Given the description of an element on the screen output the (x, y) to click on. 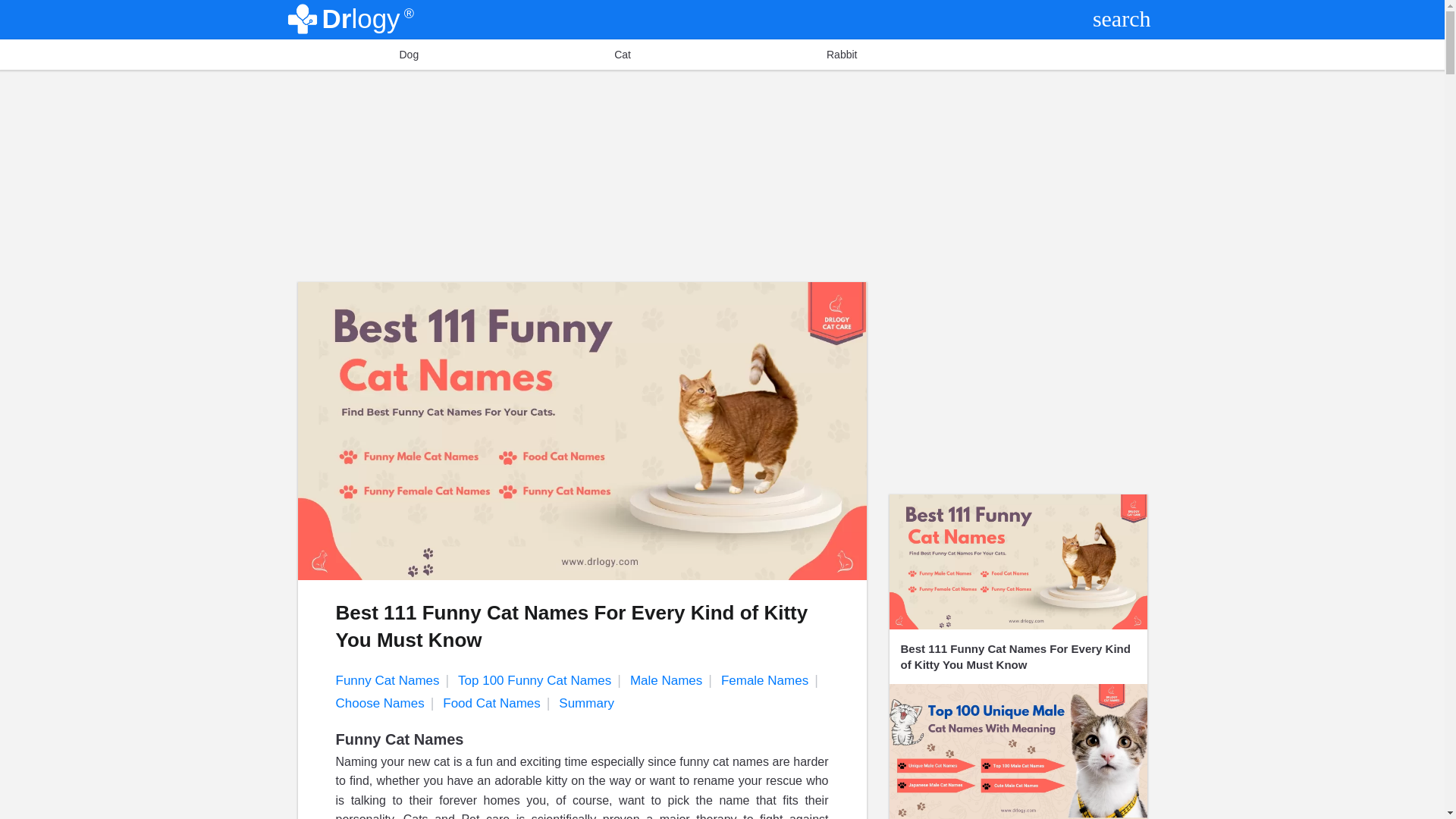
Top 100 Funny Cat Names (542, 680)
Summary (592, 703)
Choose Names (386, 703)
Funny Cat Names (394, 680)
Top 100 Unique Male Cat Names For Every Kitten (1017, 751)
Food Cat Names (499, 703)
Advertisement (1017, 387)
Male Names (673, 680)
Female Names (772, 680)
